Given the description of an element on the screen output the (x, y) to click on. 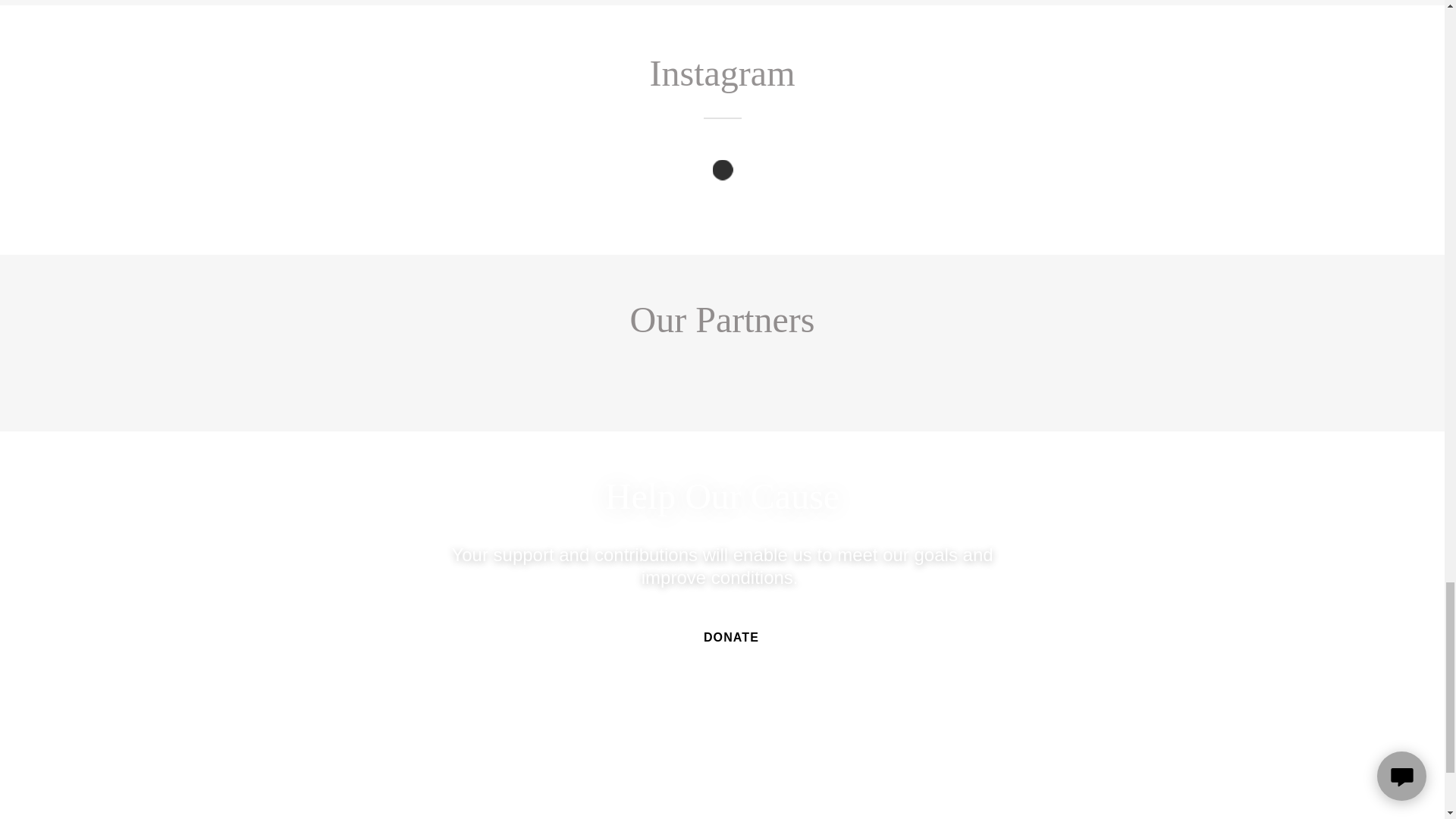
DONATE (722, 637)
